Given the description of an element on the screen output the (x, y) to click on. 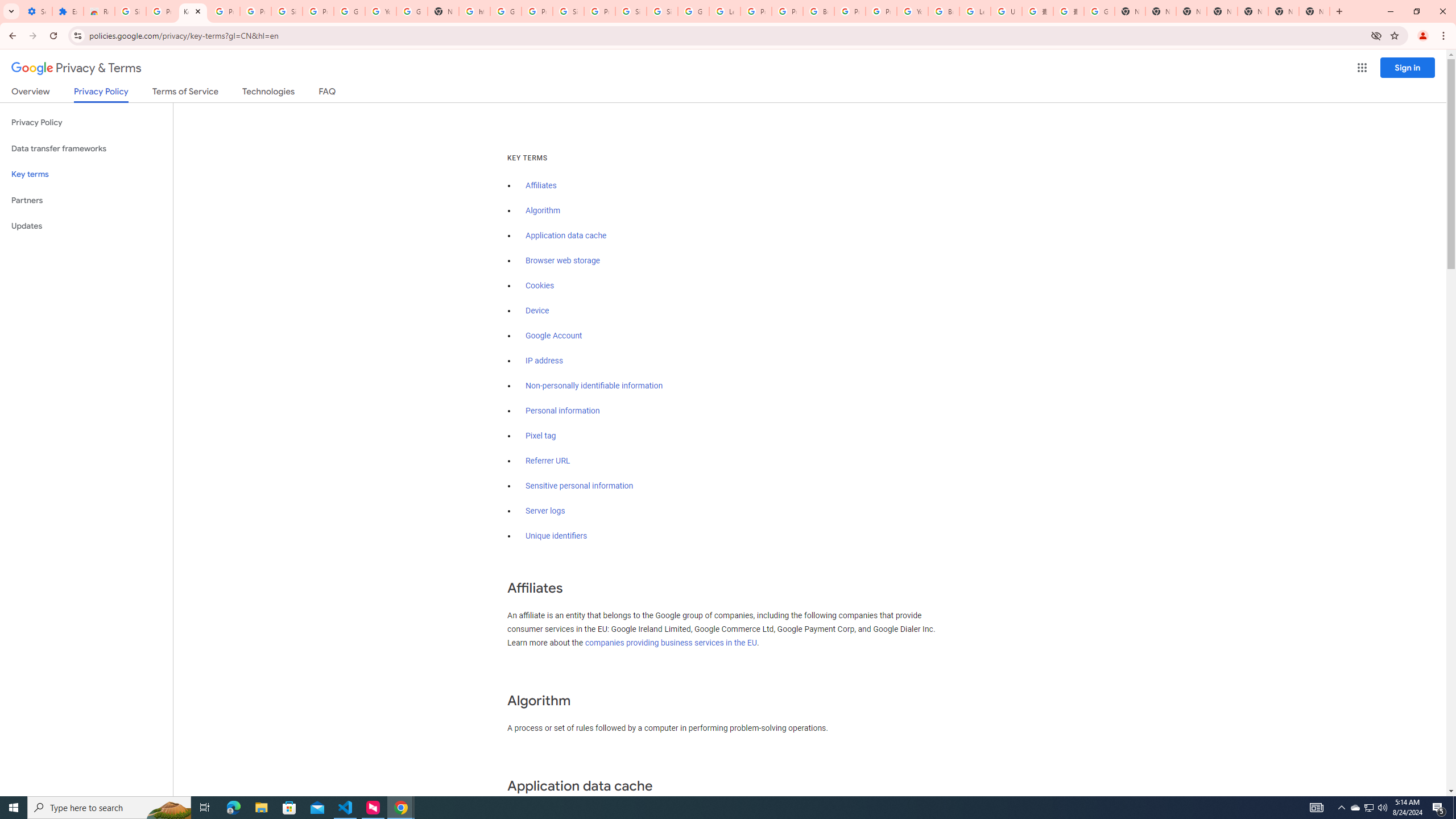
Non-personally identifiable information (593, 385)
YouTube (912, 11)
IP address (544, 361)
Server logs (544, 511)
Unique identifiers (556, 536)
